Given the description of an element on the screen output the (x, y) to click on. 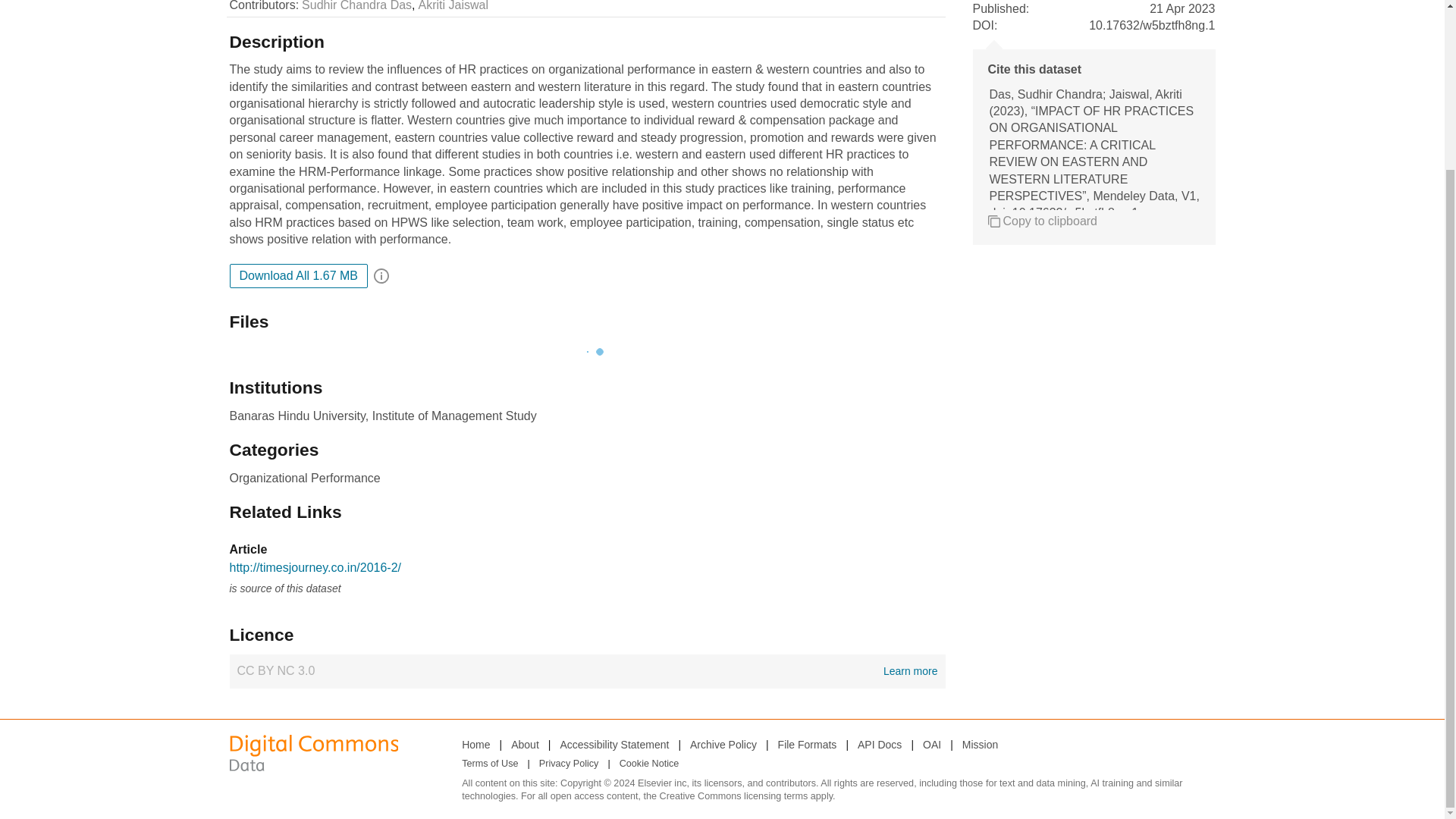
File Formats (807, 744)
Copy to clipboard (1042, 221)
Download All 1.67 MB (298, 275)
OAI (931, 744)
Sudhir Chandra Das (356, 6)
About (524, 744)
Cookie Notice (649, 763)
Archive Policy (723, 744)
Terms of Use (489, 763)
API Docs (879, 744)
